Given the description of an element on the screen output the (x, y) to click on. 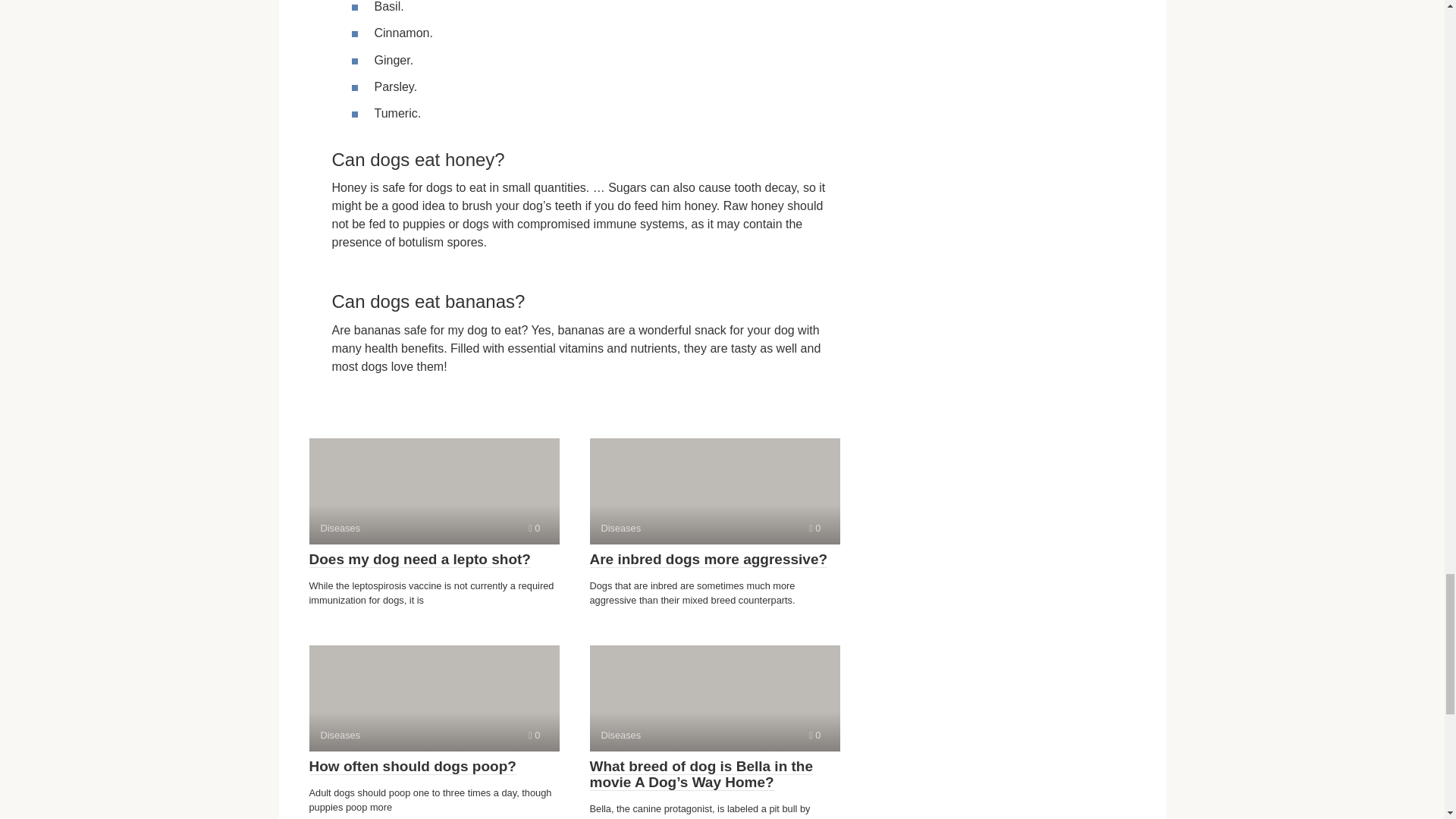
Comments (815, 527)
Does my dog need a lepto shot? (433, 698)
Comments (419, 559)
Comments (534, 735)
How often should dogs poop? (534, 527)
Comments (412, 766)
Are inbred dogs more aggressive? (714, 491)
